Given the description of an element on the screen output the (x, y) to click on. 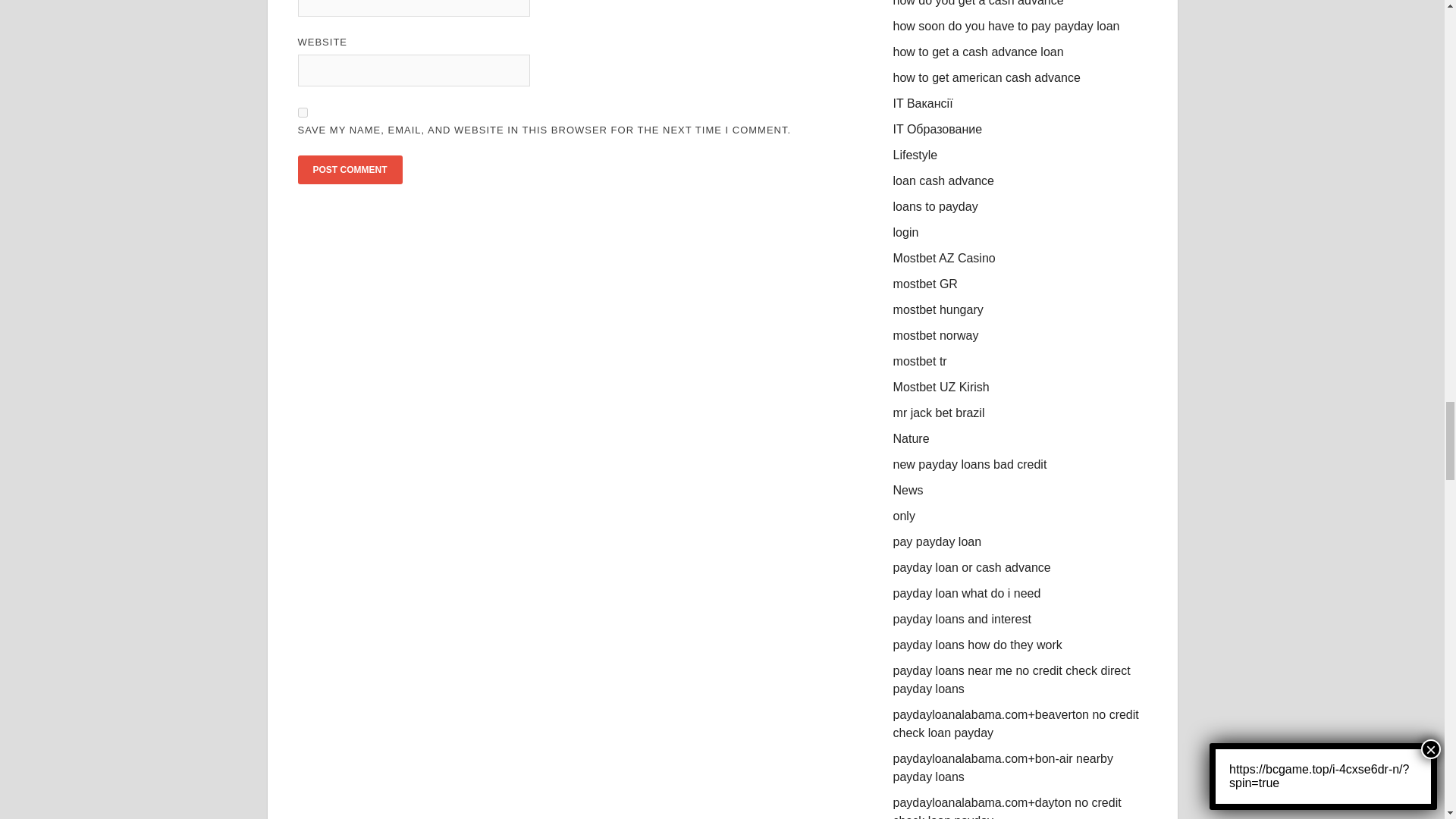
yes (302, 112)
Post Comment (349, 169)
